Given the description of an element on the screen output the (x, y) to click on. 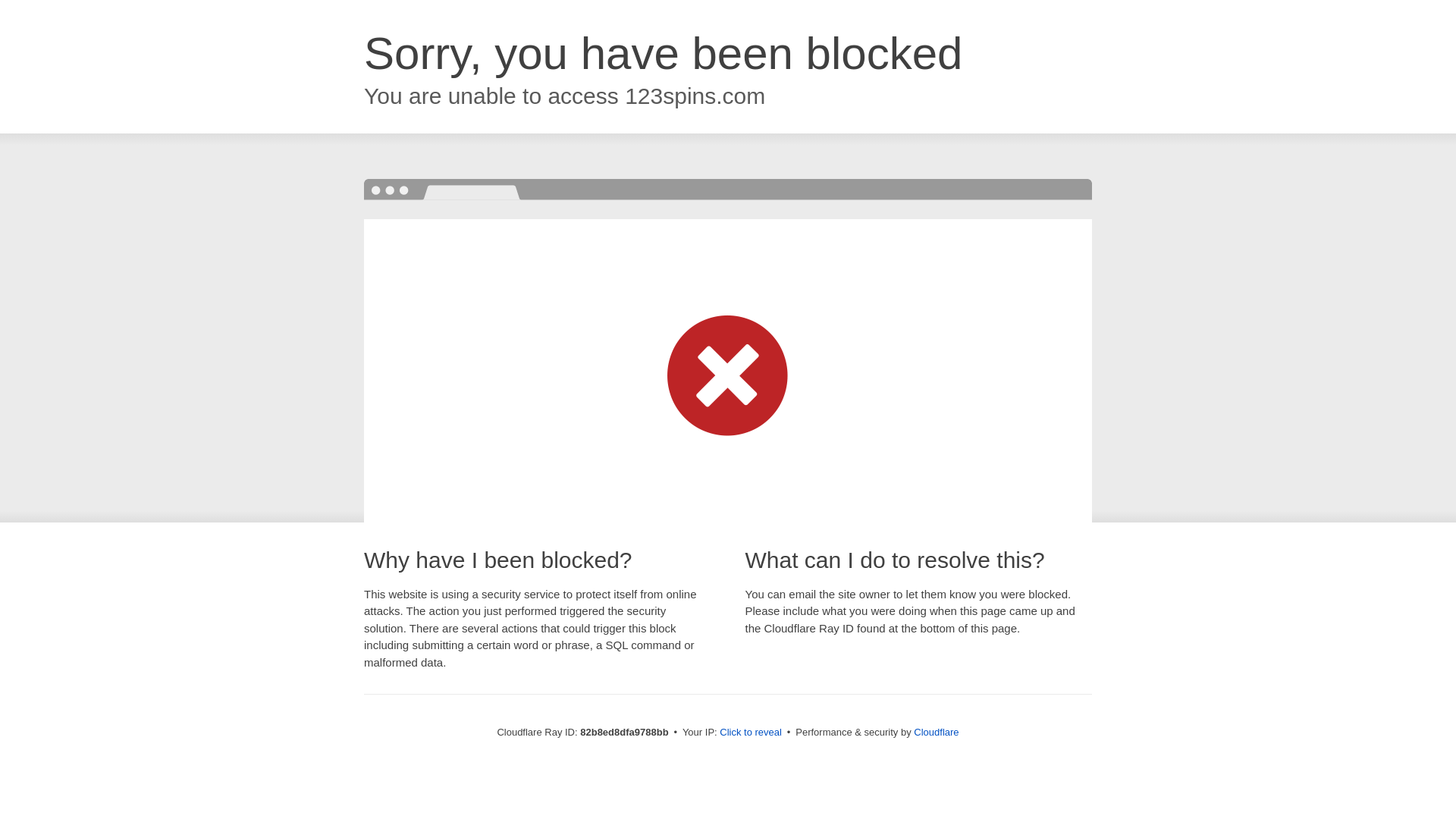
Click to reveal Element type: text (750, 732)
Cloudflare Element type: text (935, 731)
